Given the description of an element on the screen output the (x, y) to click on. 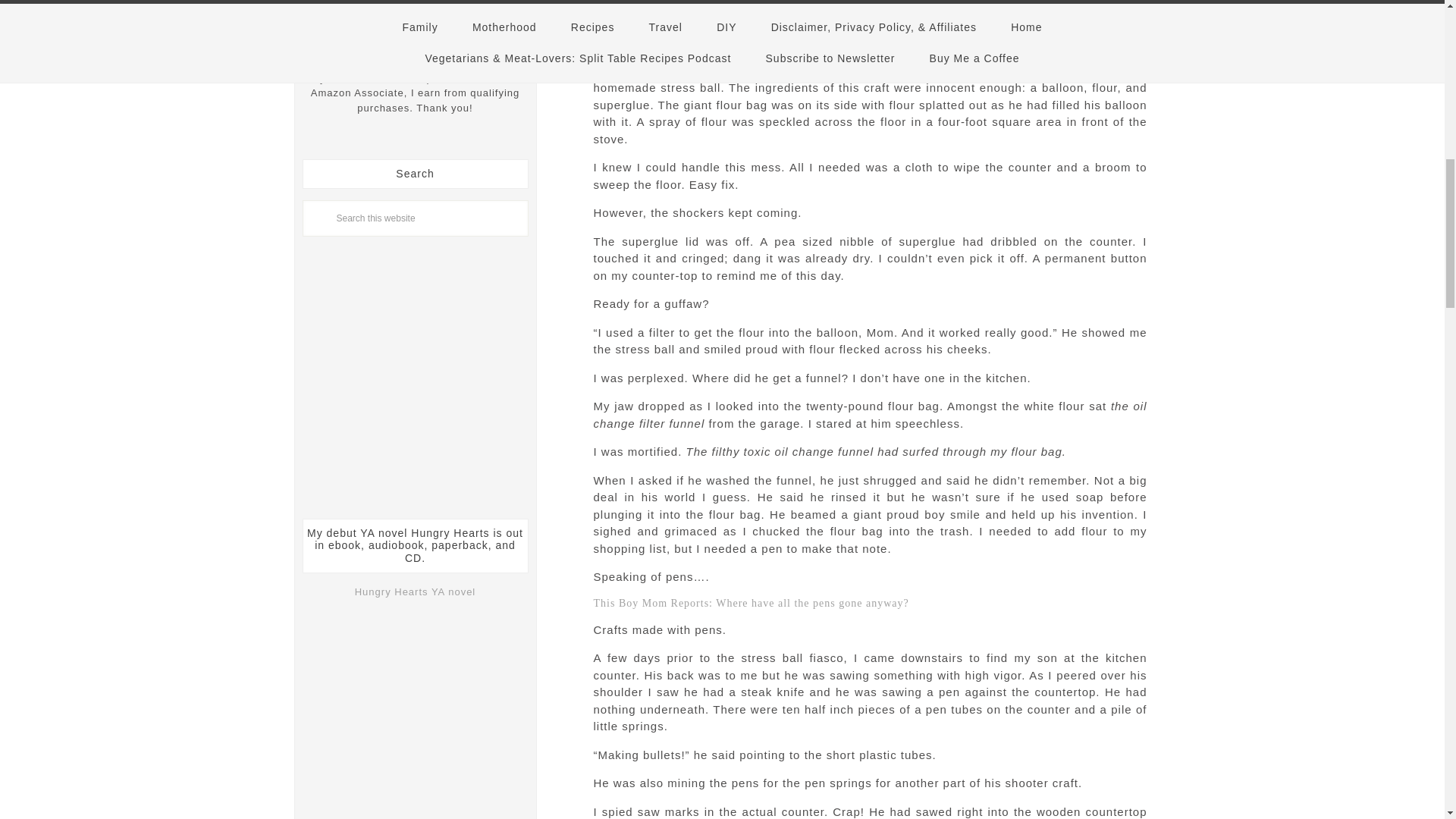
Hungry Hearts YA novel (415, 591)
